Given the description of an element on the screen output the (x, y) to click on. 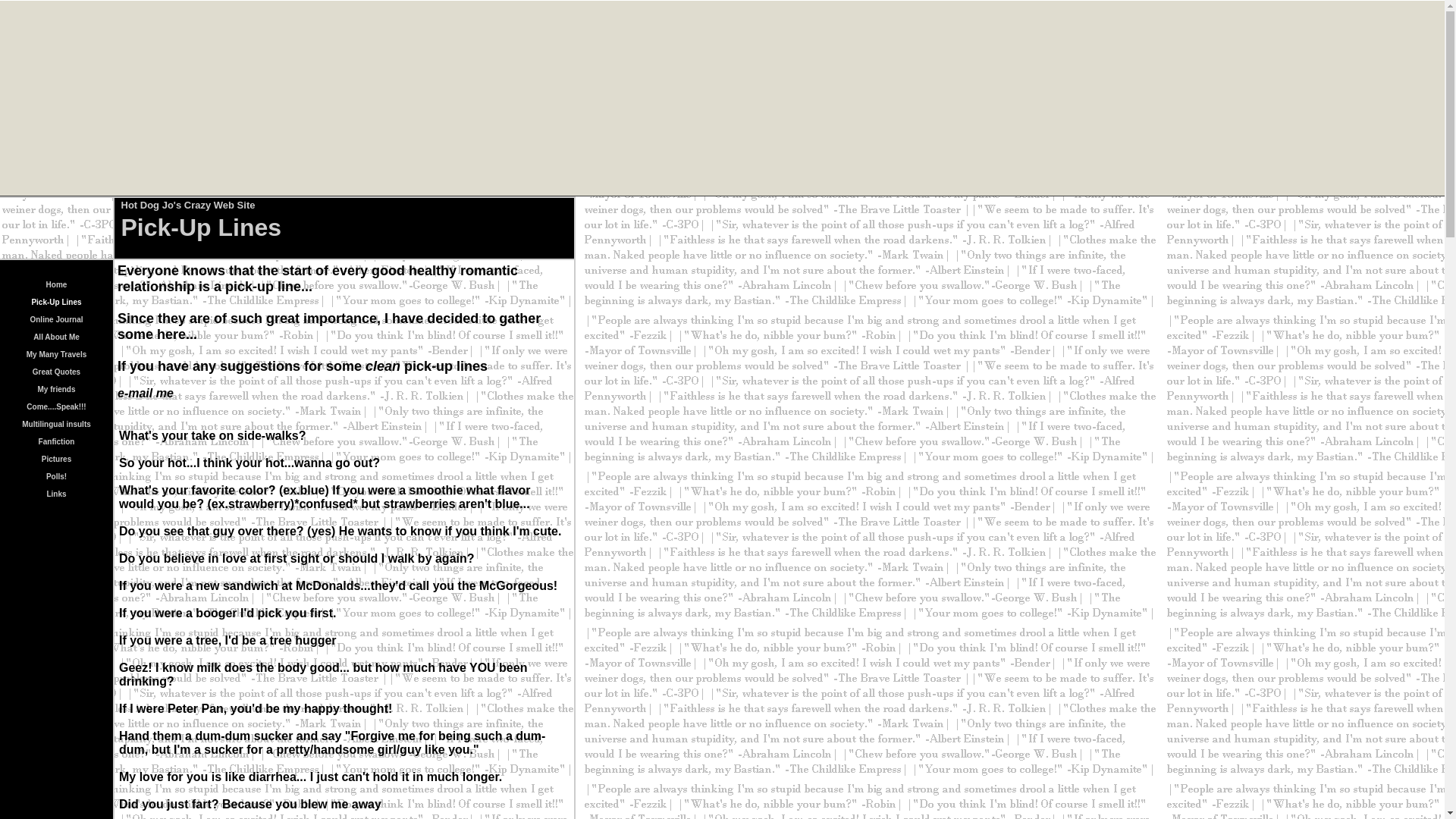
Great Quotes (56, 369)
Fanfiction (57, 440)
Pictures (56, 457)
Online Journal (55, 318)
Multilingual insults (55, 422)
My Many Travels (55, 352)
Come....Speak!!! (55, 404)
e-mail me (145, 392)
Home (56, 282)
My friends (56, 387)
